Given the description of an element on the screen output the (x, y) to click on. 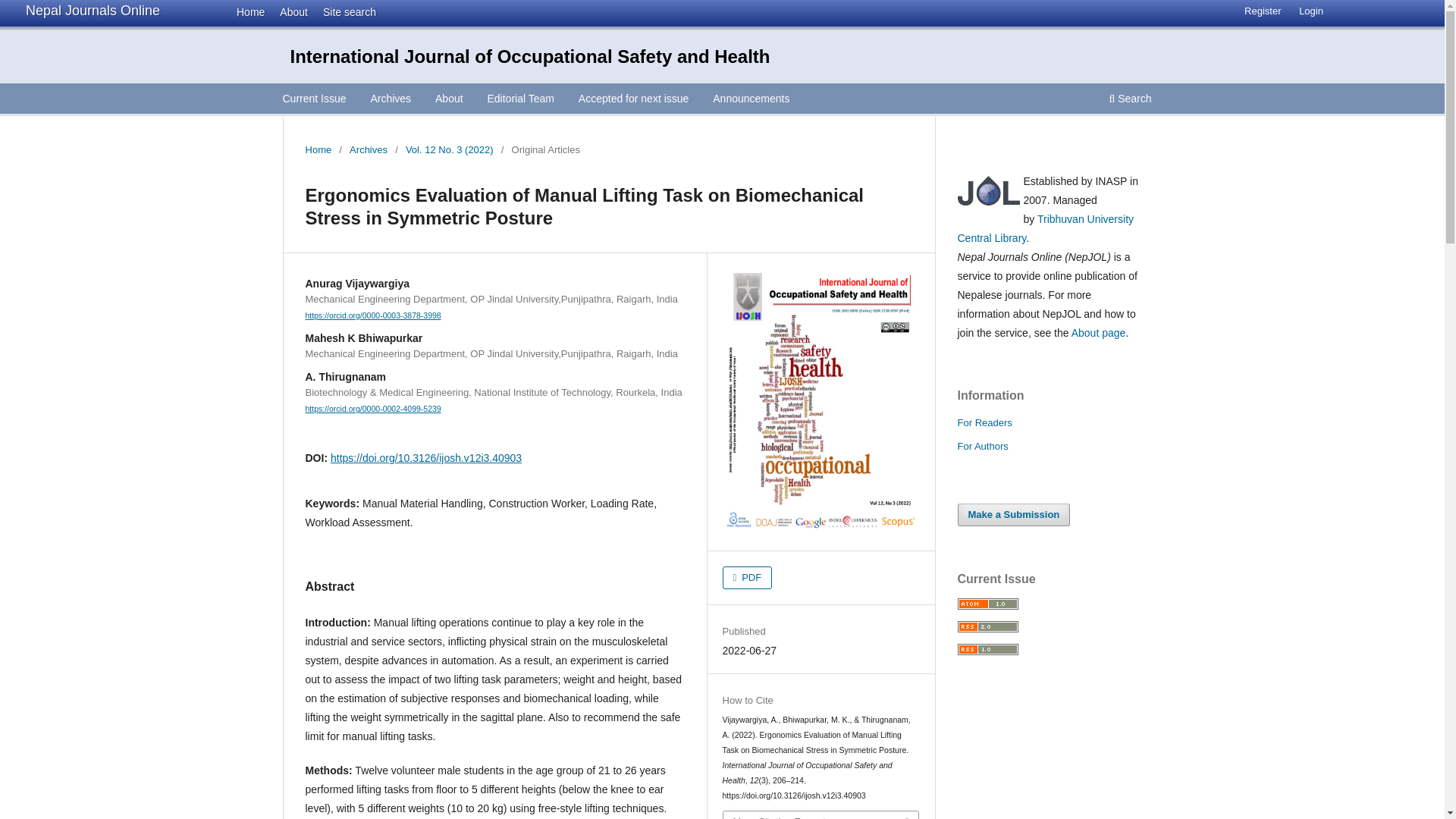
International Journal of Occupational Safety and Health (529, 56)
Site search (344, 11)
PDF (747, 577)
Register (1262, 11)
Current Issue (315, 99)
Login (1310, 11)
About (448, 99)
Nepal Journals Online (93, 10)
About (289, 11)
Announcements (750, 99)
